Given the description of an element on the screen output the (x, y) to click on. 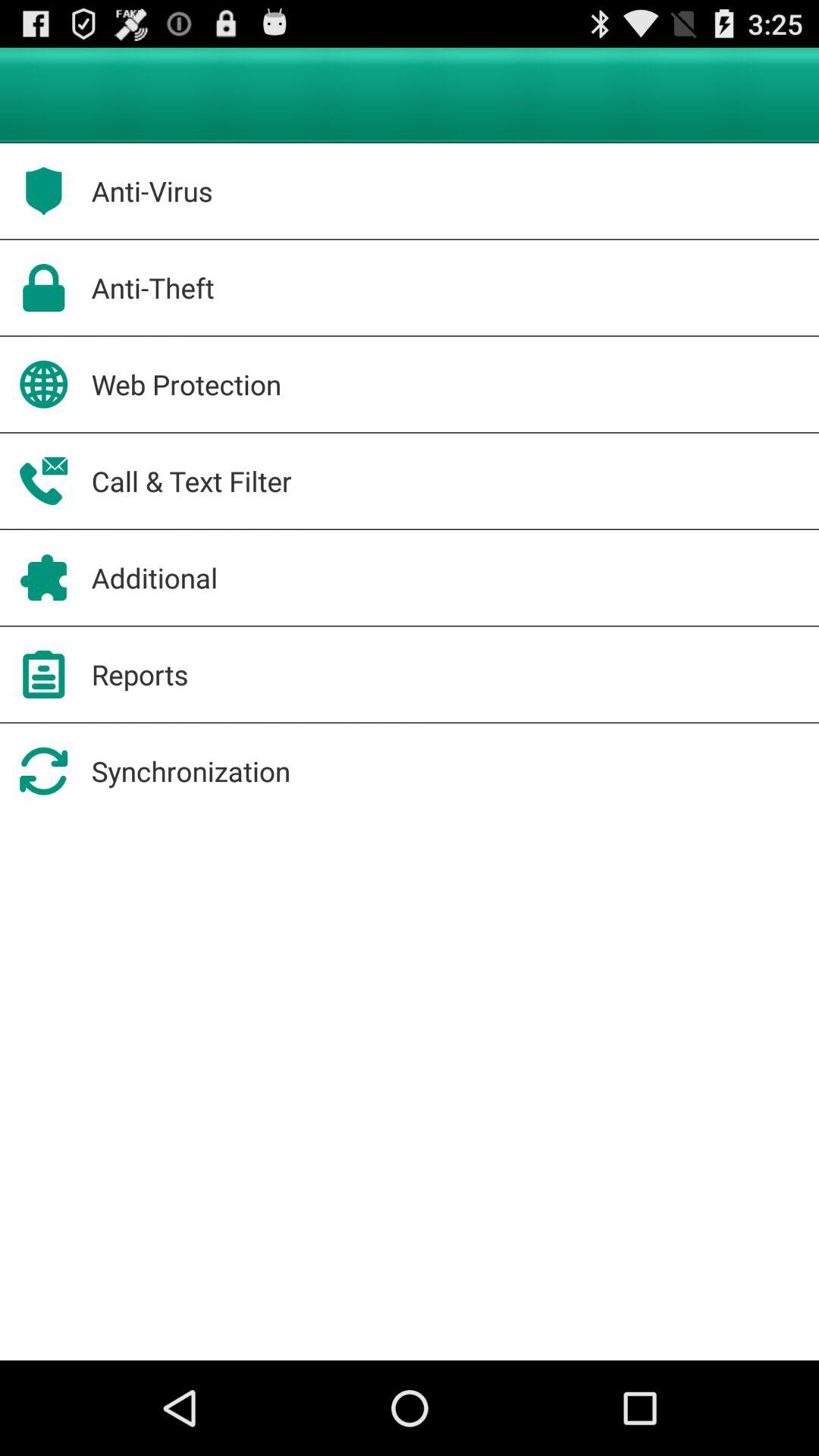
flip to call & text filter (191, 480)
